Given the description of an element on the screen output the (x, y) to click on. 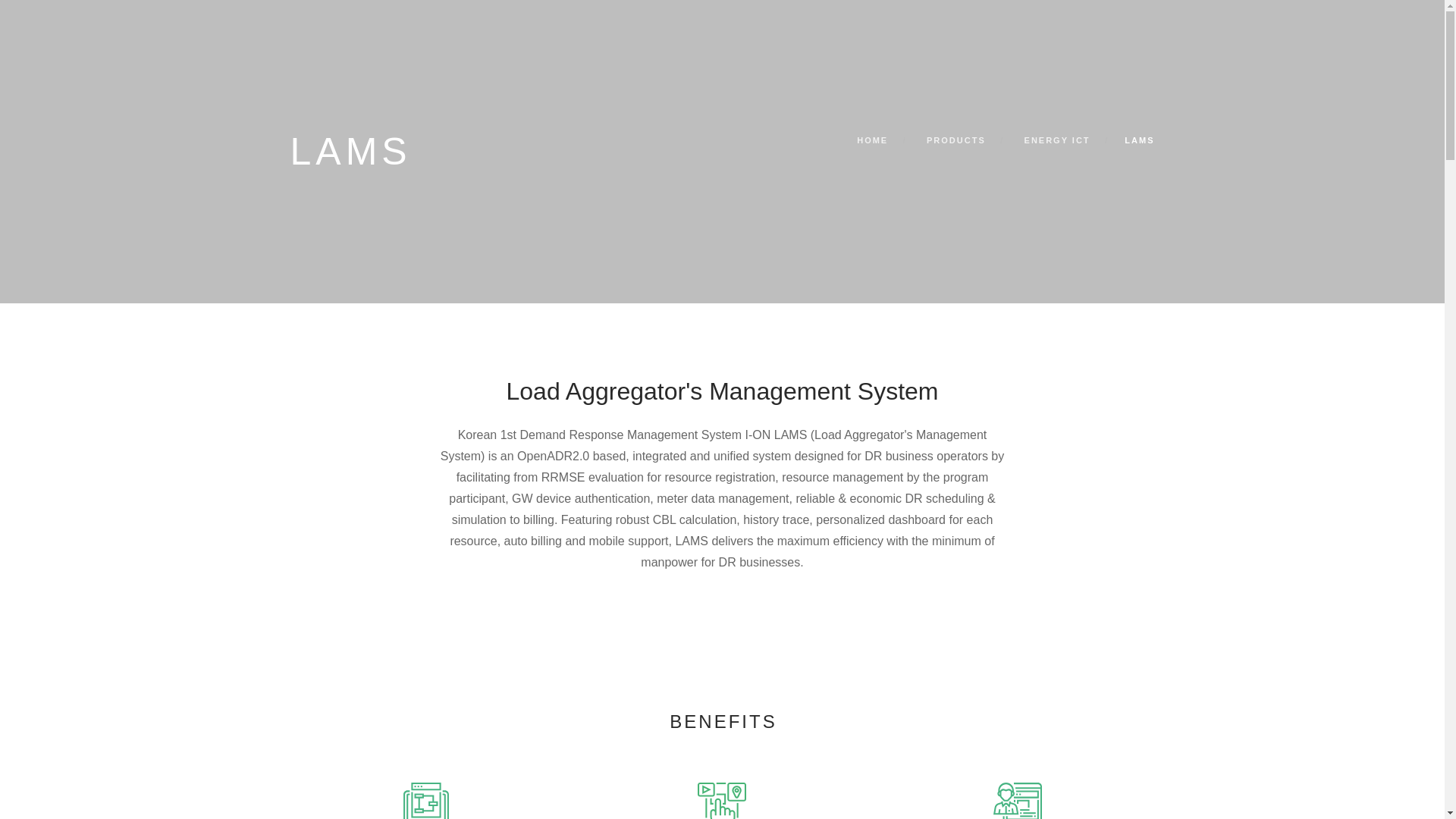
ENERGY ICT (1057, 139)
PRODUCTS (955, 139)
HOME (872, 139)
